Given the description of an element on the screen output the (x, y) to click on. 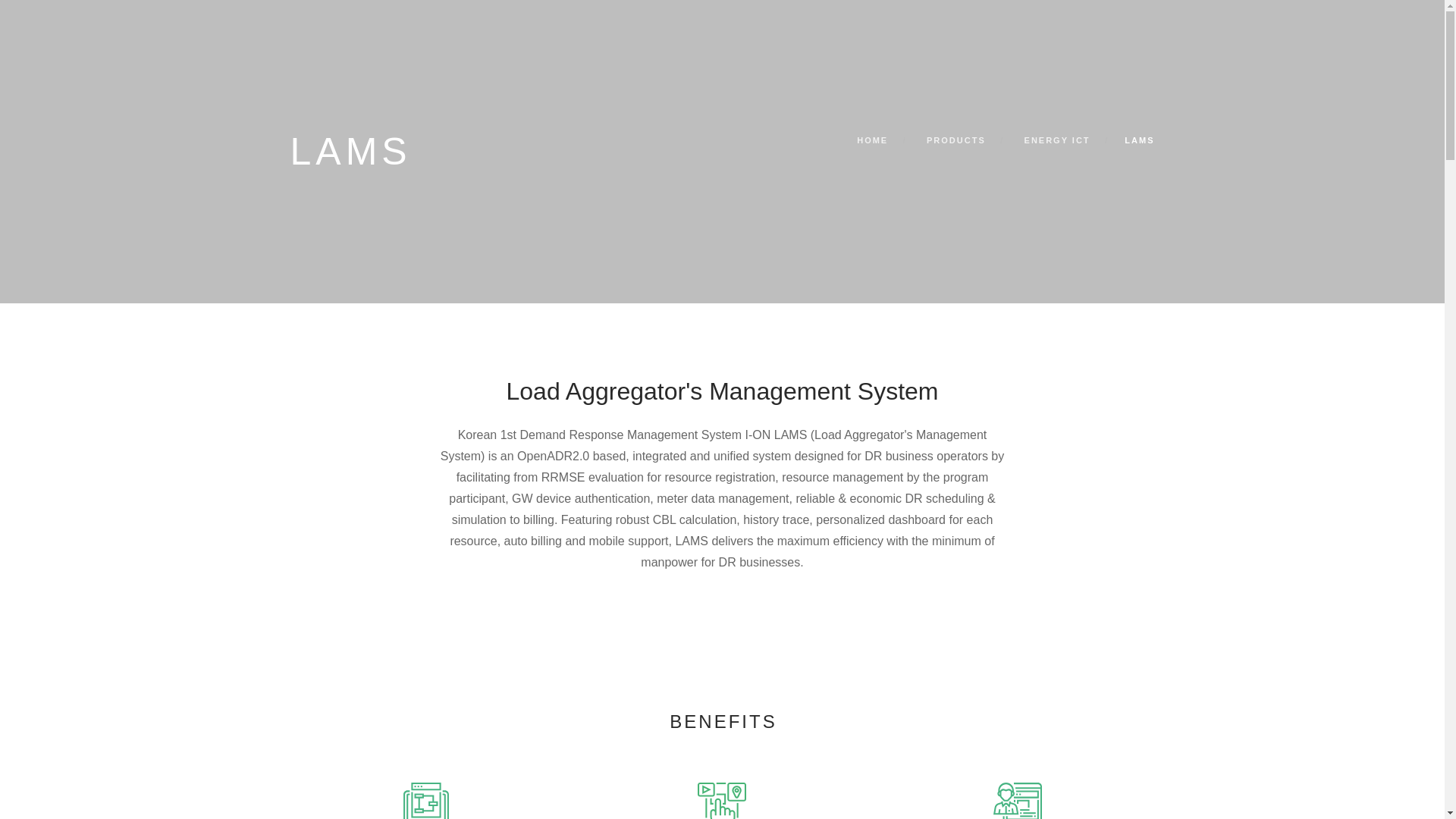
ENERGY ICT (1057, 139)
PRODUCTS (955, 139)
HOME (872, 139)
